Given the description of an element on the screen output the (x, y) to click on. 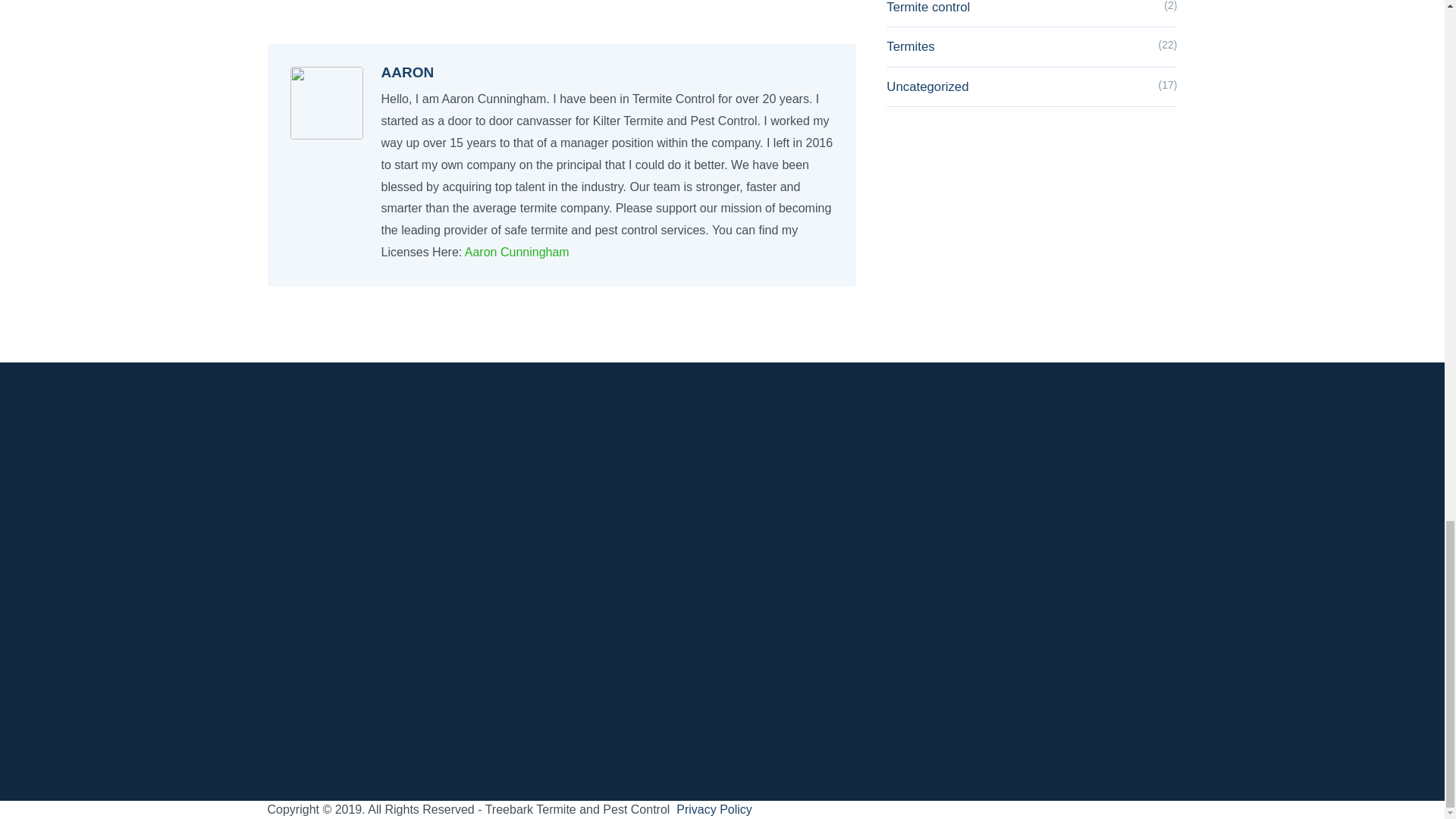
Aaron Cunningham (516, 251)
AARON (406, 72)
